Given the description of an element on the screen output the (x, y) to click on. 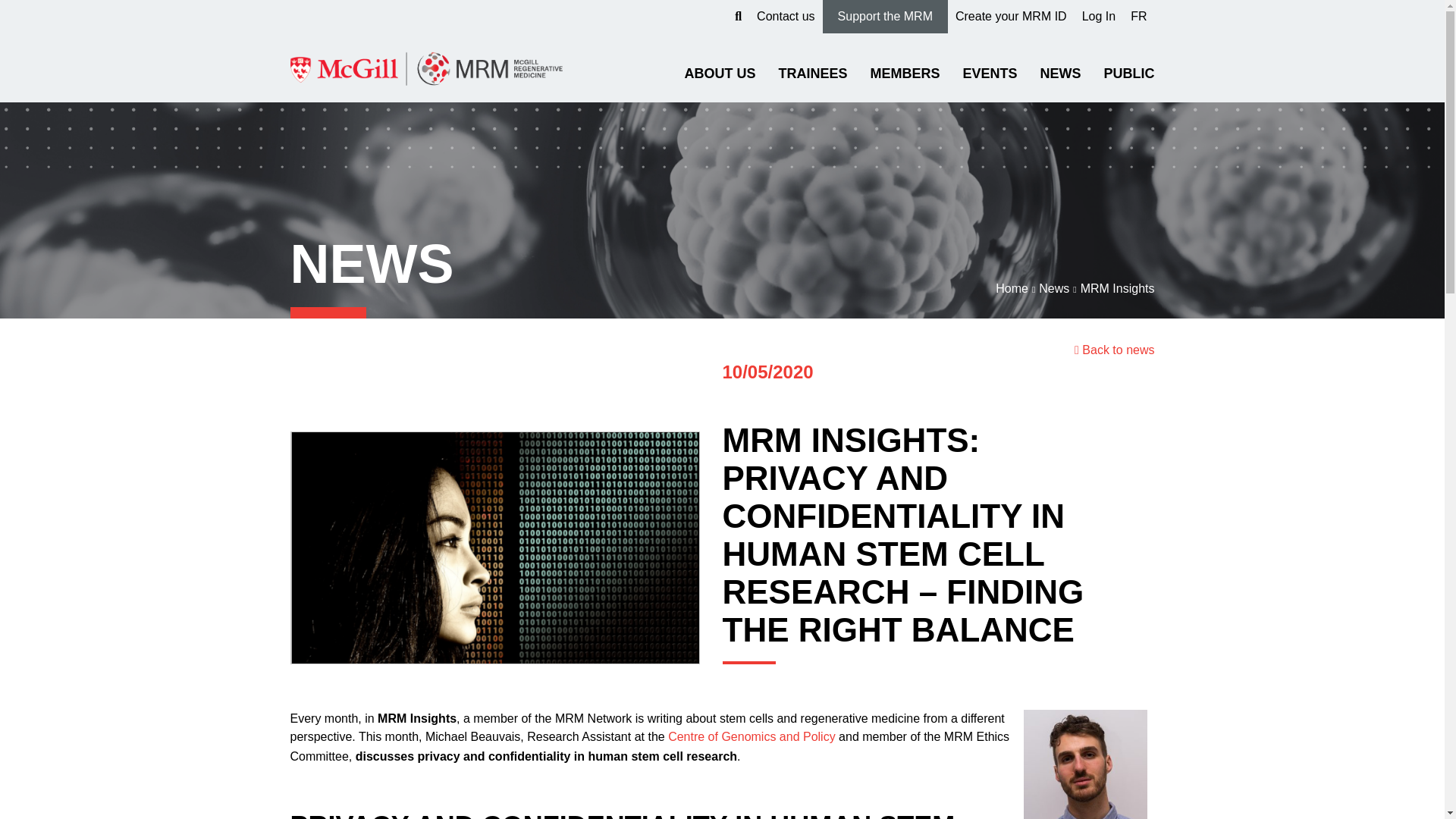
Log In (1098, 16)
Create your MRM ID (1011, 16)
MEMBERS (904, 82)
ABOUT US (719, 82)
TRAINEES (812, 82)
Support the MRM (884, 16)
Contact us (785, 16)
NEWS (1059, 82)
EVENTS (989, 82)
